Given the description of an element on the screen output the (x, y) to click on. 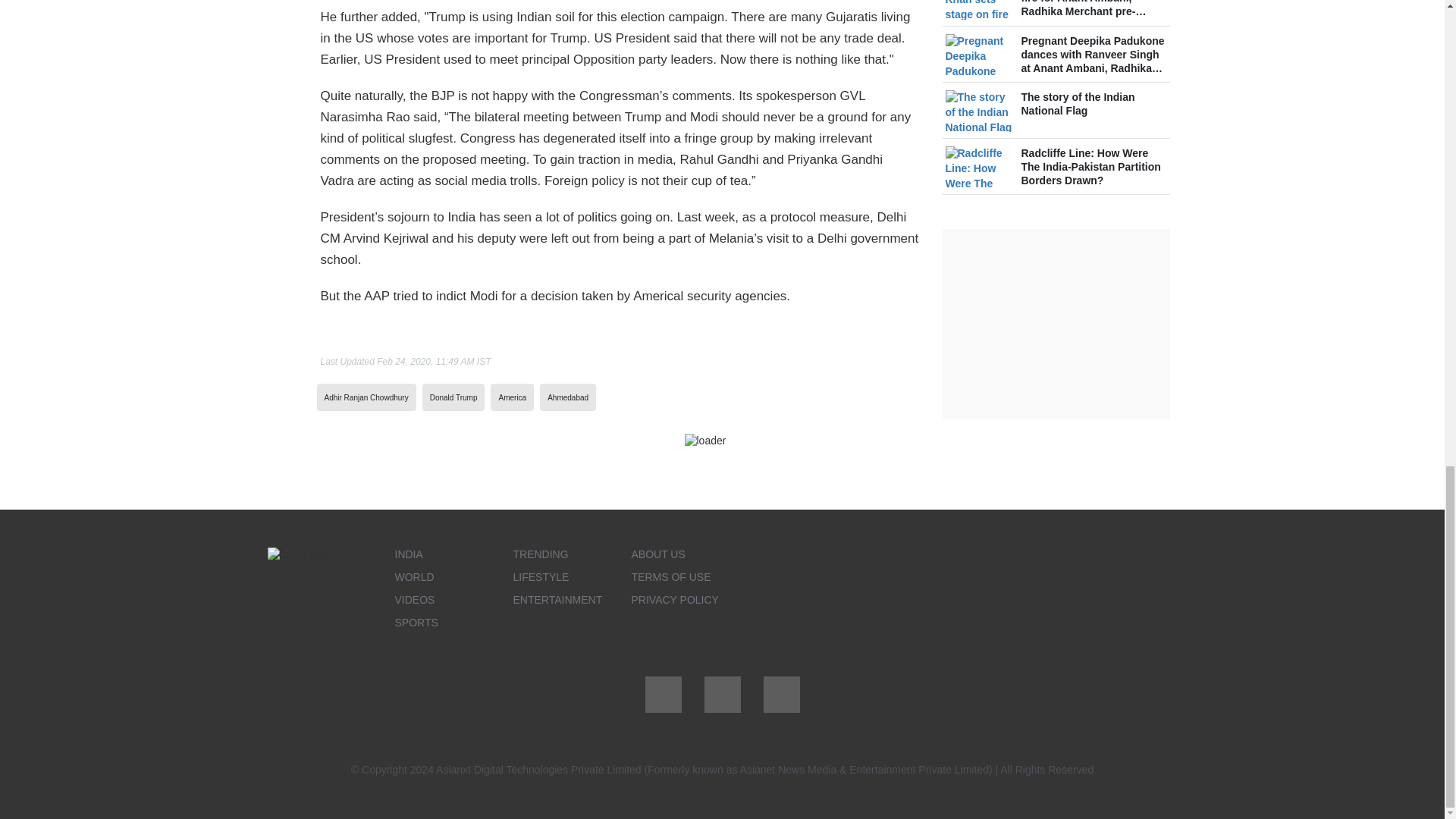
Donald Trump (453, 397)
America (511, 397)
Ahmedabad (567, 397)
Adhir Ranjan Chowdhury (366, 397)
